Given the description of an element on the screen output the (x, y) to click on. 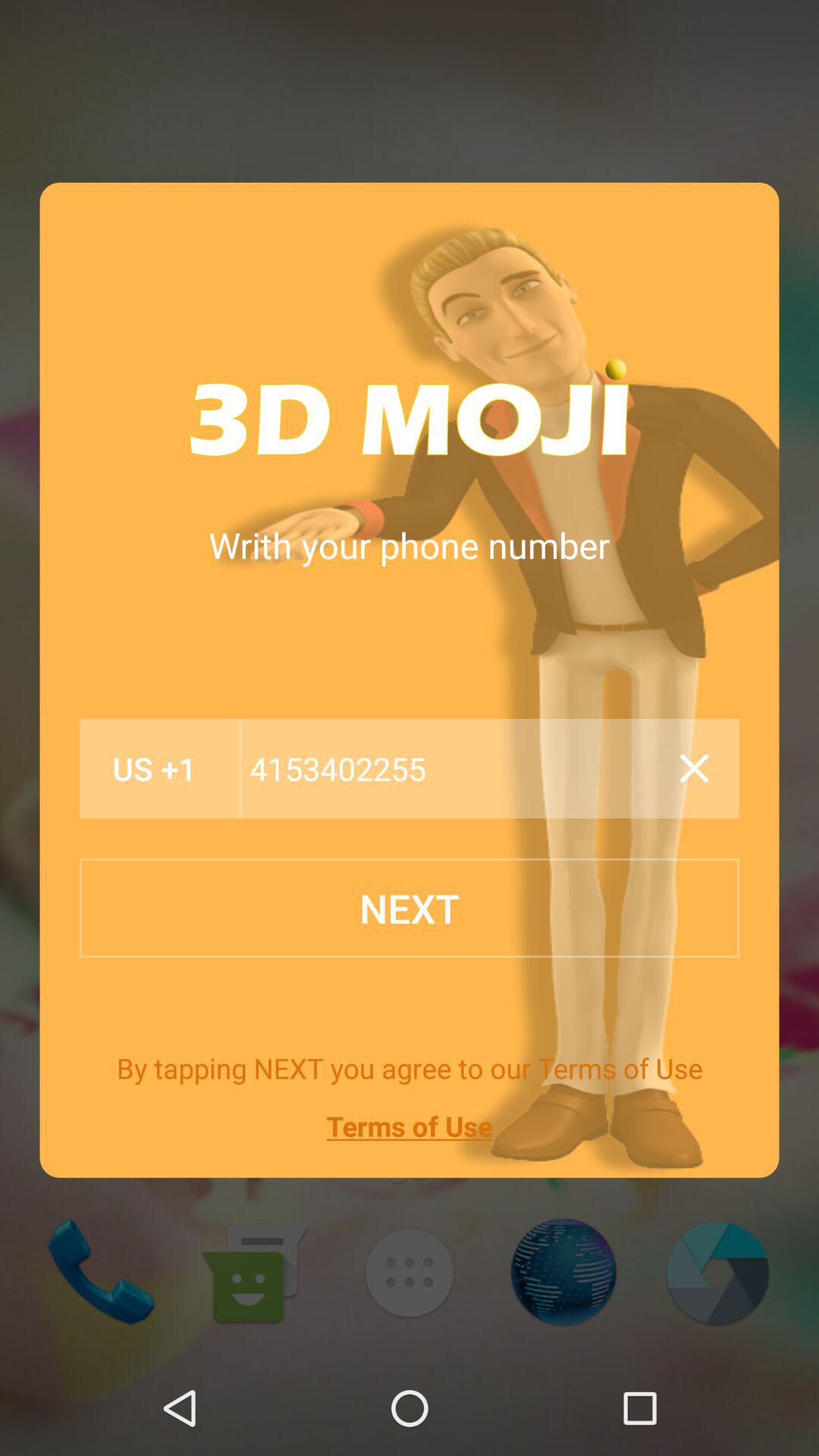
turn on item above next (154, 768)
